Given the description of an element on the screen output the (x, y) to click on. 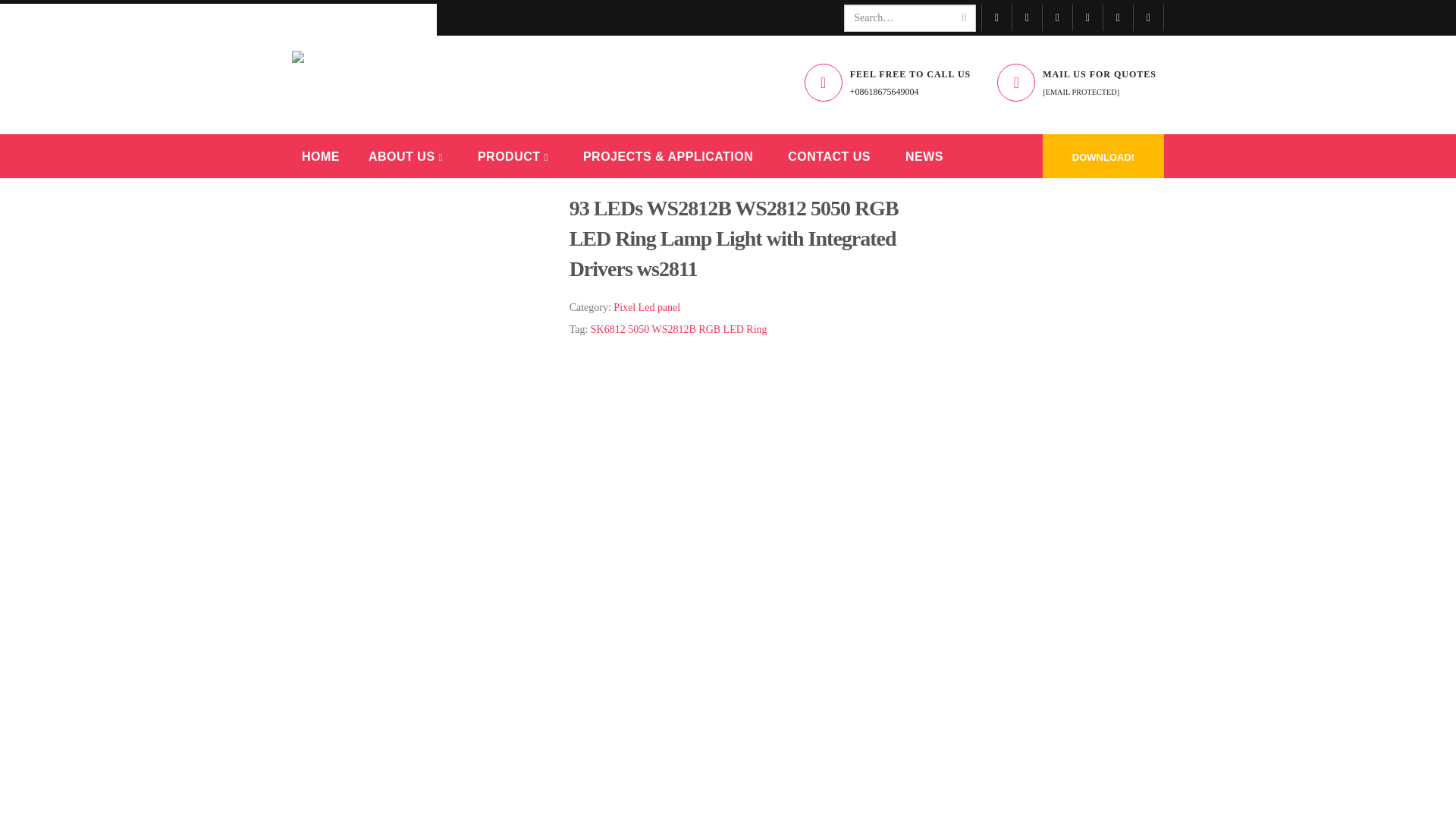
HOME (320, 155)
Pixel Led panel (645, 307)
Youtube (1057, 17)
NEWS (924, 155)
Skype (1118, 17)
Twitter (1026, 17)
LinkedIn (1148, 17)
PRODUCT (512, 155)
Instagram (1088, 17)
